Given the description of an element on the screen output the (x, y) to click on. 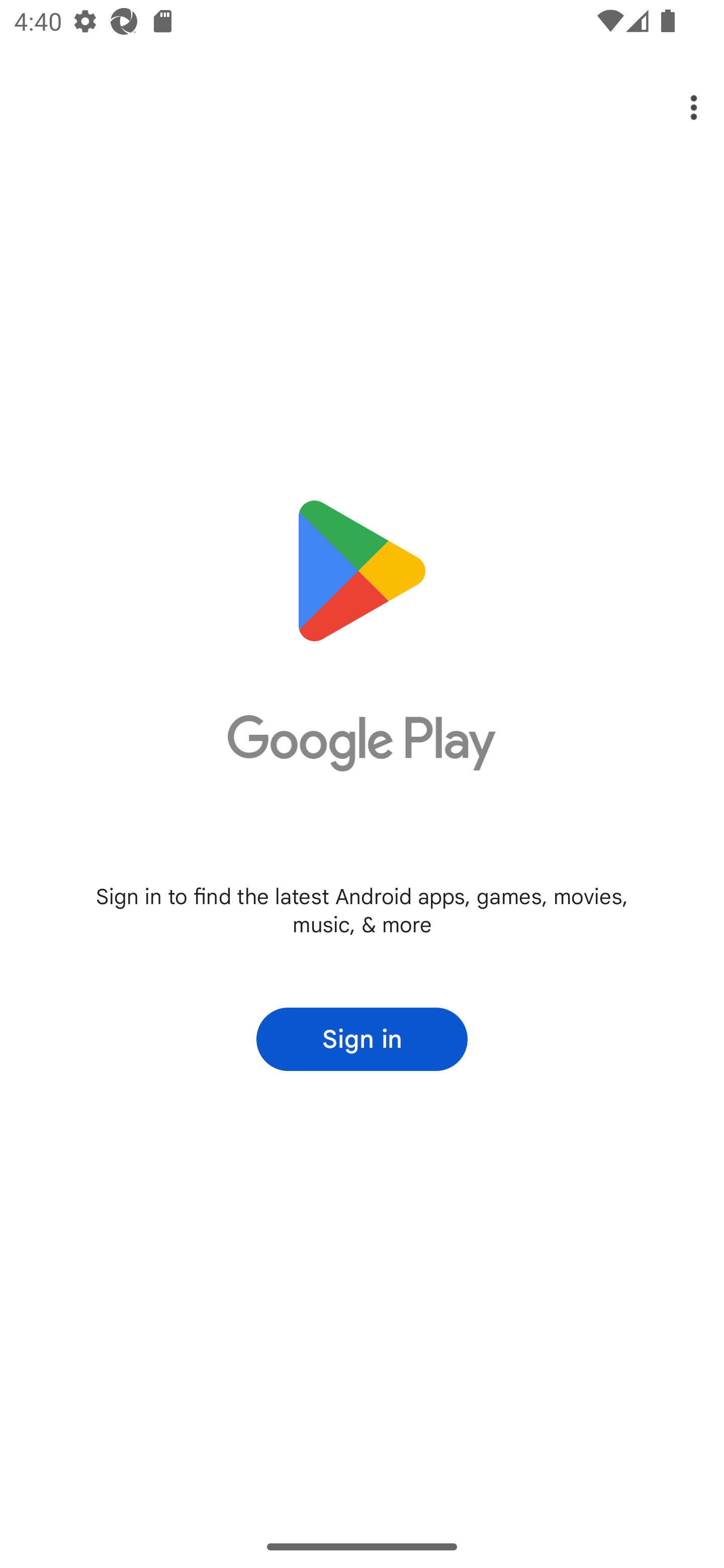
Options (679, 107)
Sign in (361, 1039)
